Given the description of an element on the screen output the (x, y) to click on. 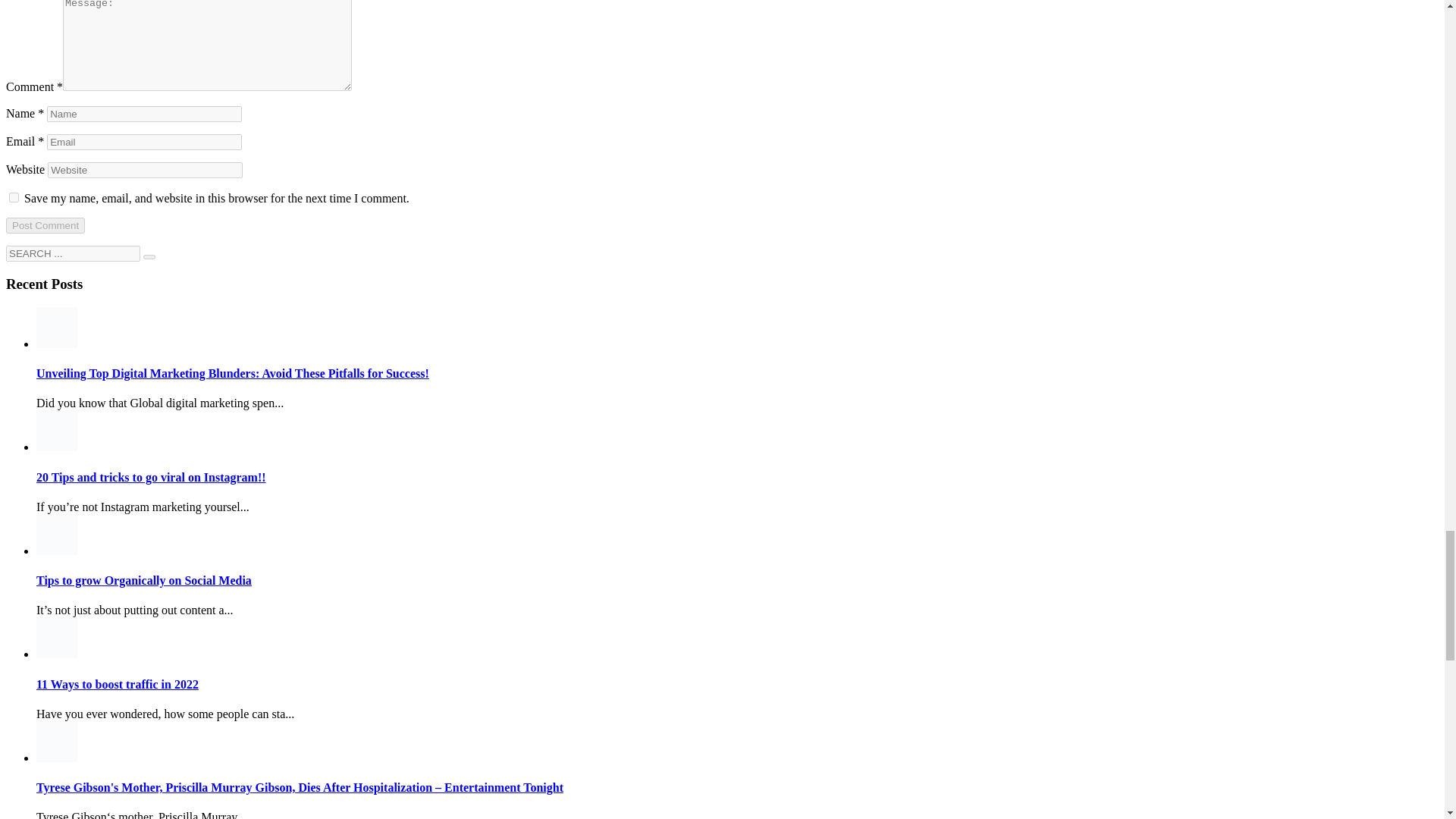
Post Comment (44, 225)
yes (13, 197)
